Given the description of an element on the screen output the (x, y) to click on. 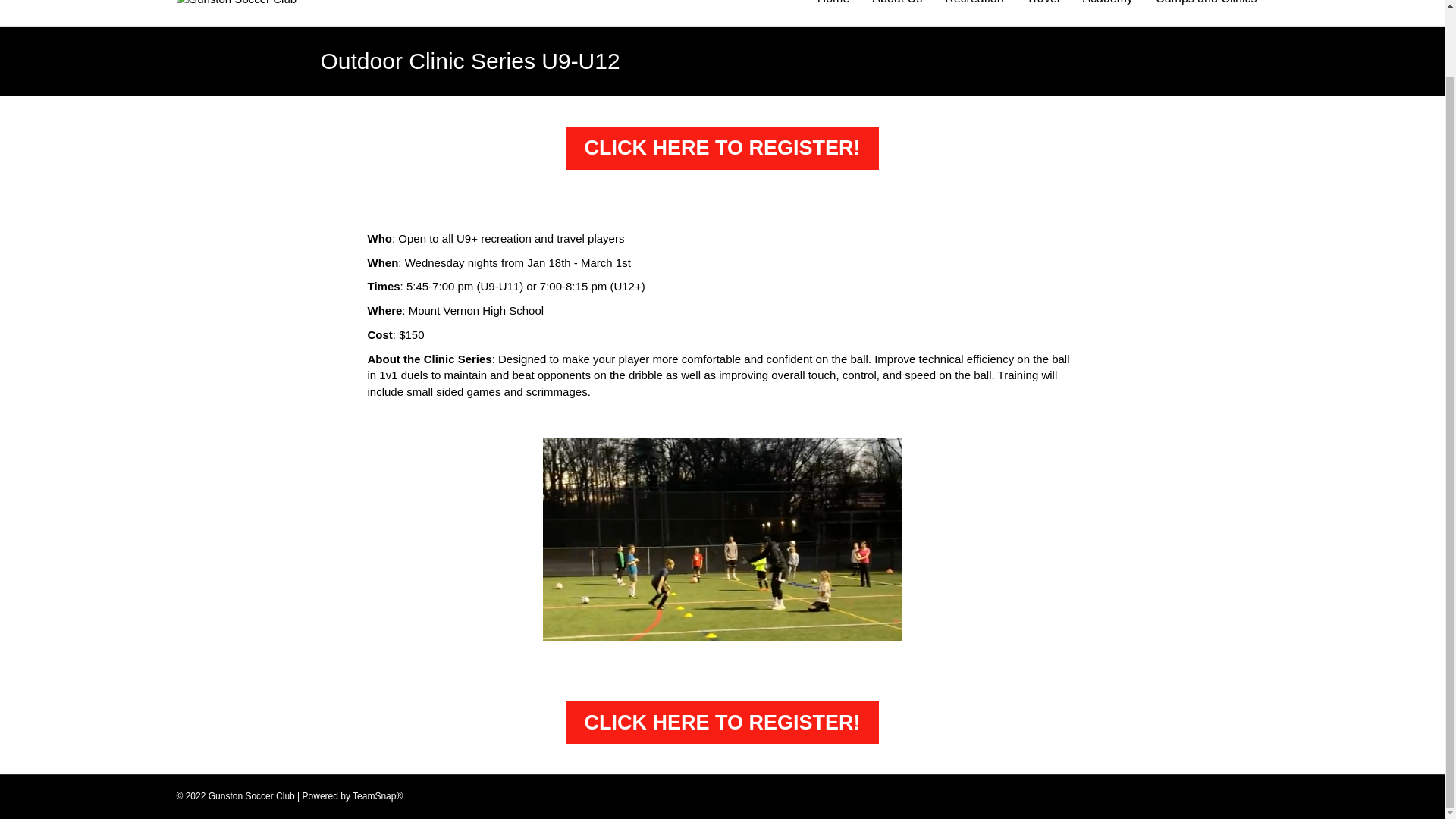
Screen Shot 2022-10-25 at 3.26.17 PM (722, 539)
